Given the description of an element on the screen output the (x, y) to click on. 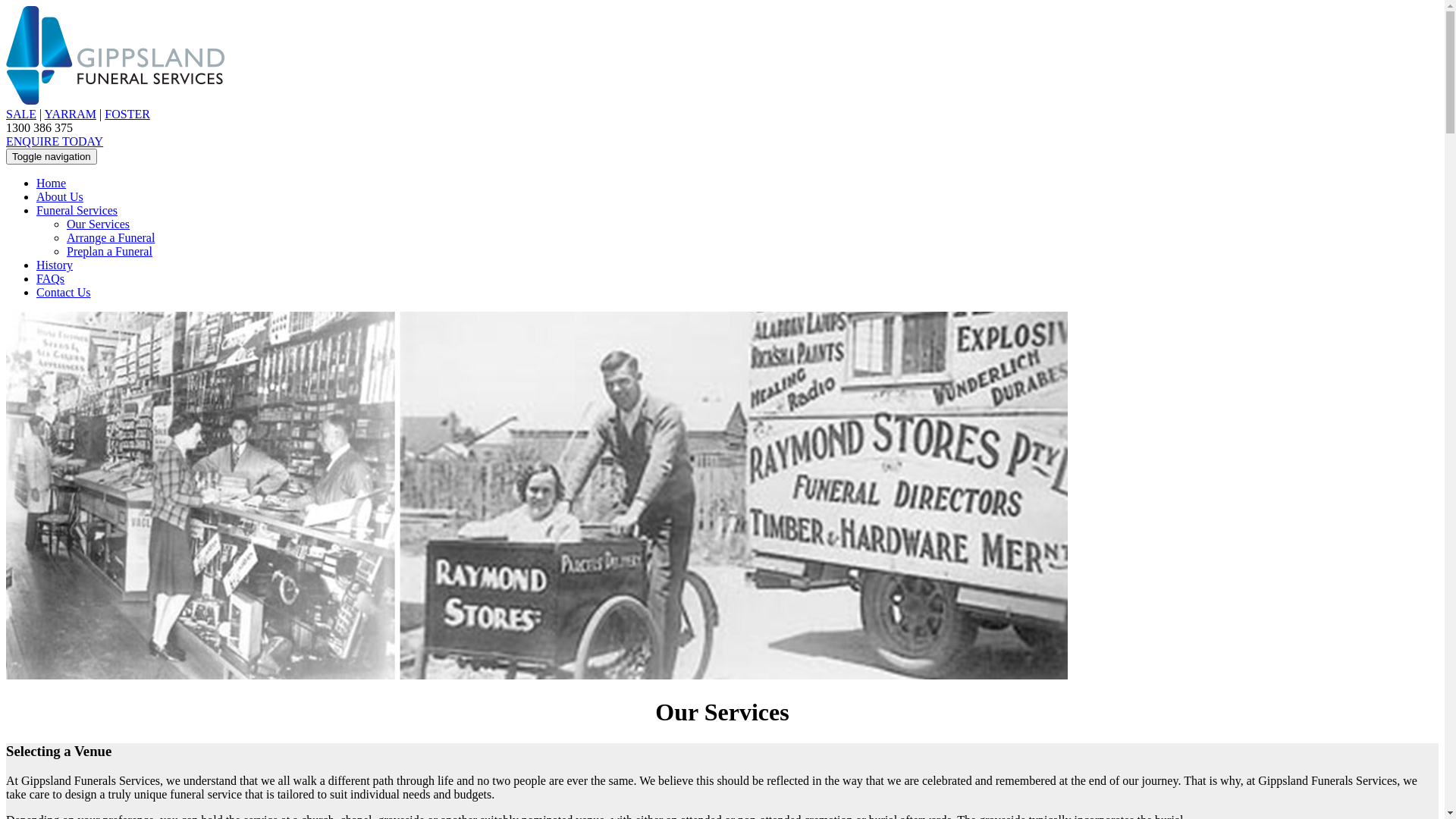
History Element type: text (54, 264)
ENQUIRE TODAY Element type: text (54, 140)
Home Element type: text (50, 182)
FOSTER Element type: text (127, 113)
About Us Element type: text (59, 196)
YARRAM Element type: text (70, 113)
SALE Element type: text (21, 113)
Contact Us Element type: text (63, 291)
Arrange a Funeral Element type: text (110, 237)
FAQs Element type: text (50, 278)
Funeral Services Element type: text (76, 209)
Preplan a Funeral Element type: text (109, 250)
Toggle navigation Element type: text (51, 156)
Our Services Element type: text (97, 223)
